Given the description of an element on the screen output the (x, y) to click on. 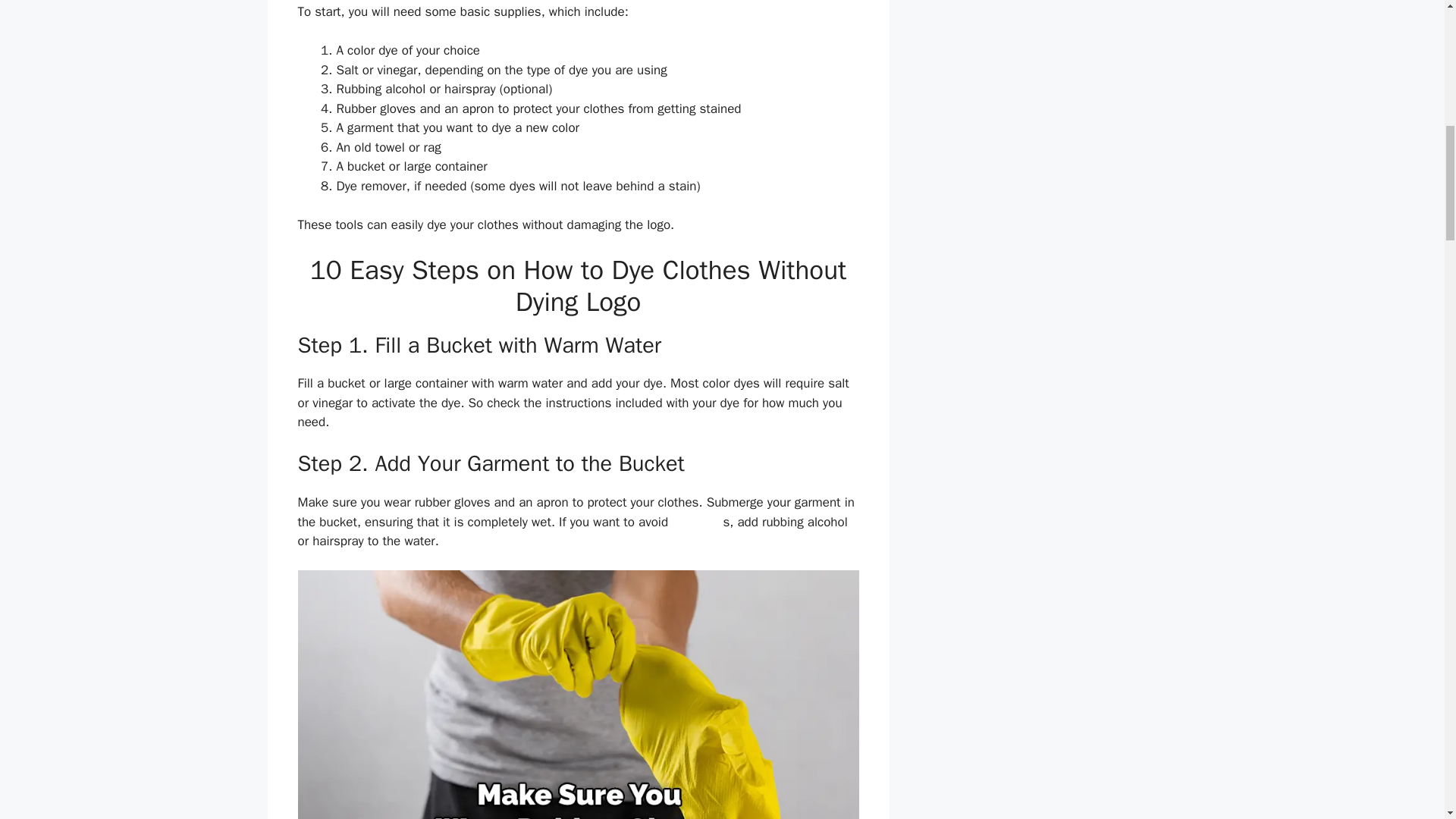
dye stain (696, 521)
